Given the description of an element on the screen output the (x, y) to click on. 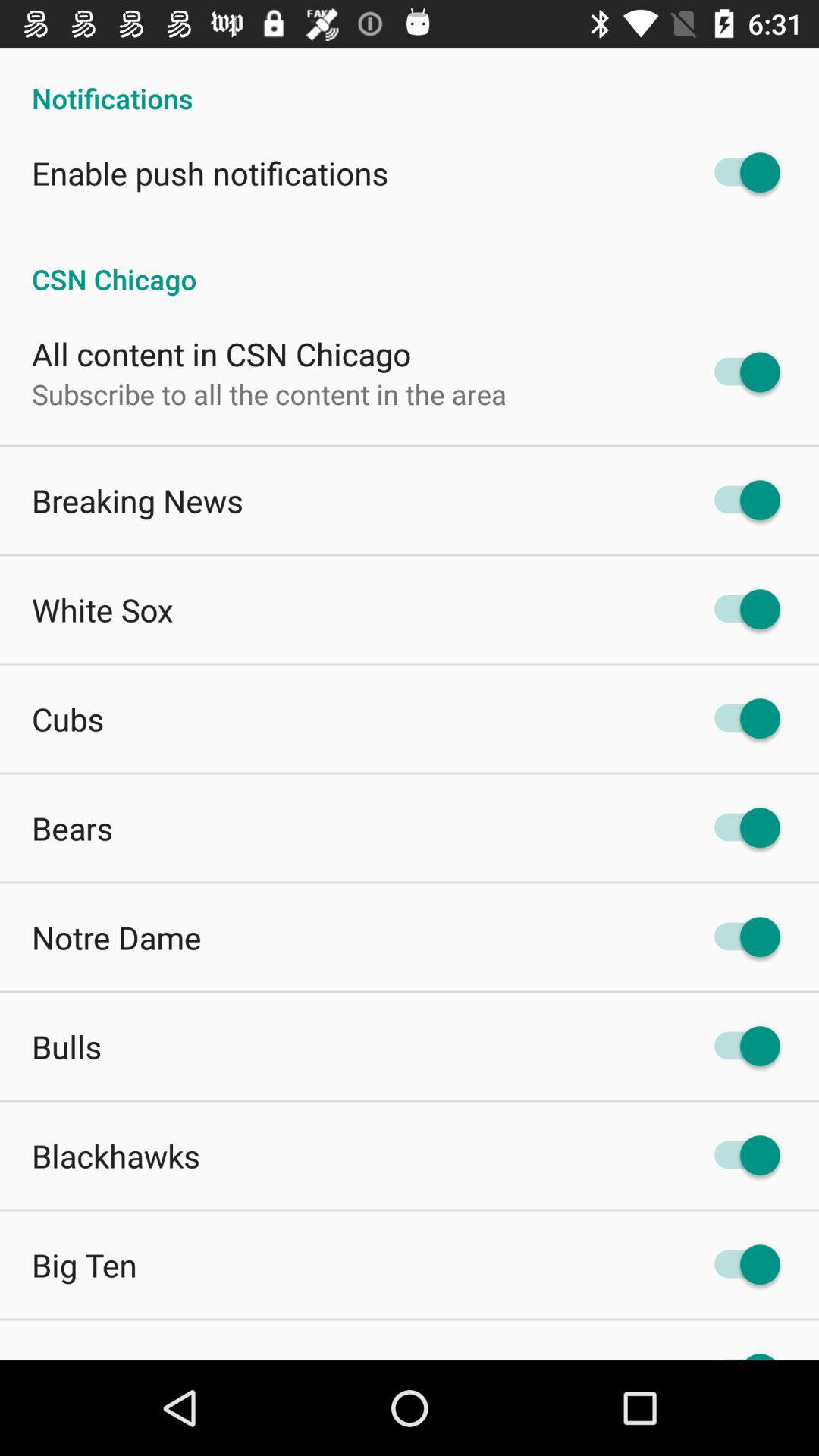
select bears app (72, 827)
